Given the description of an element on the screen output the (x, y) to click on. 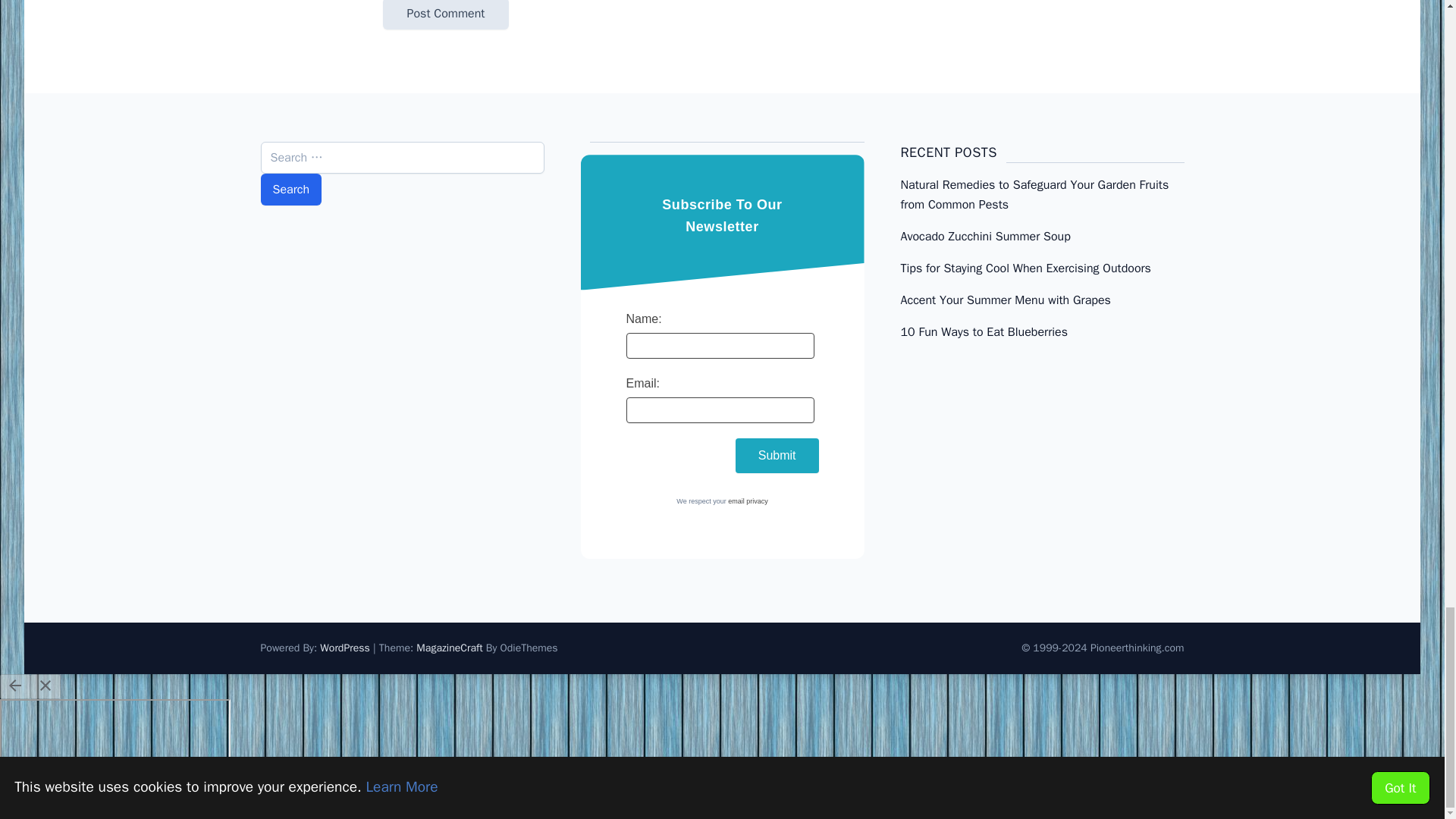
Privacy Policy (748, 501)
Search (290, 189)
Submit (776, 455)
Search (290, 189)
Post Comment (444, 14)
